Given the description of an element on the screen output the (x, y) to click on. 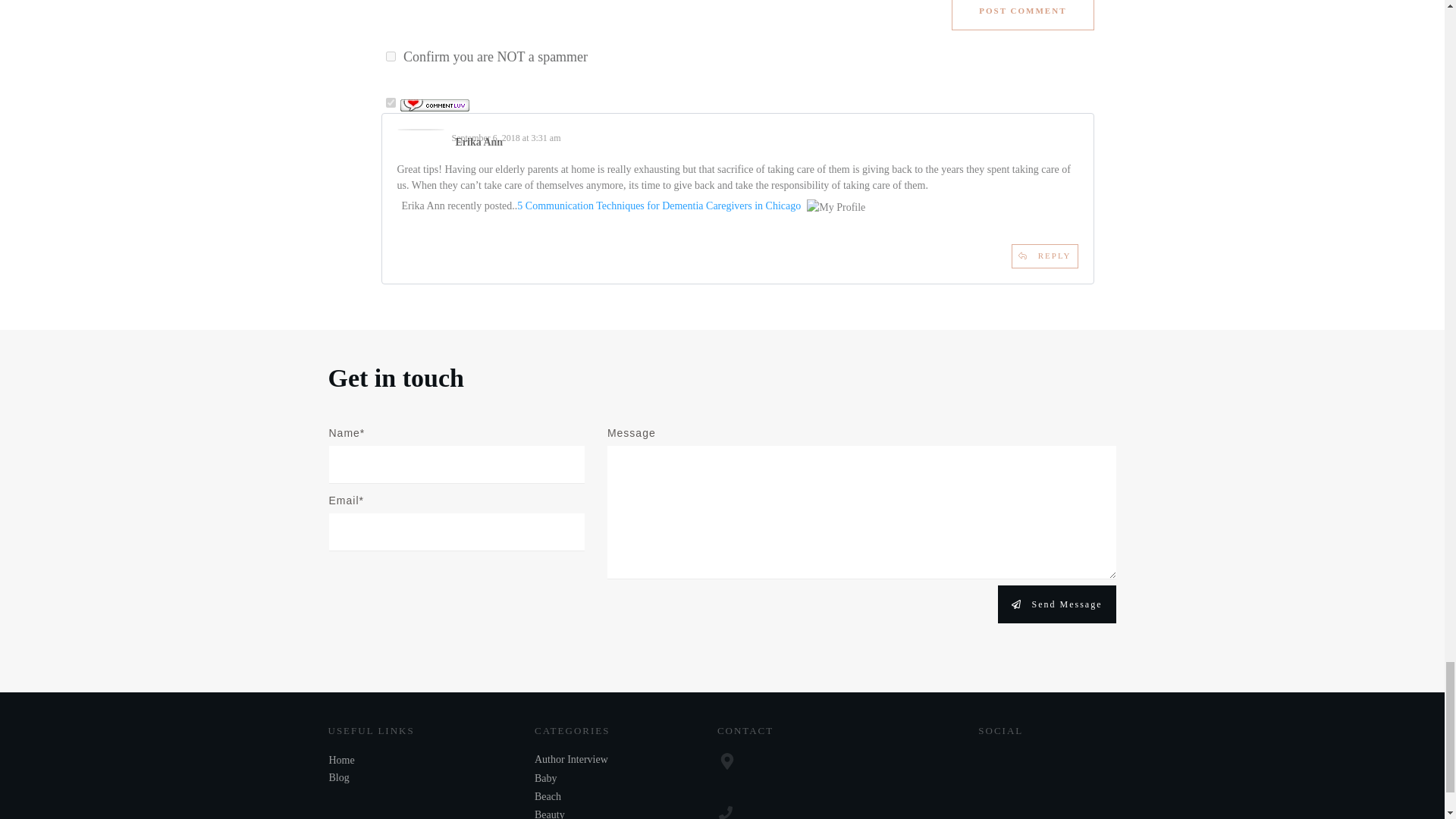
on (389, 56)
CommentLuv is enabled (434, 103)
on (389, 102)
